Given the description of an element on the screen output the (x, y) to click on. 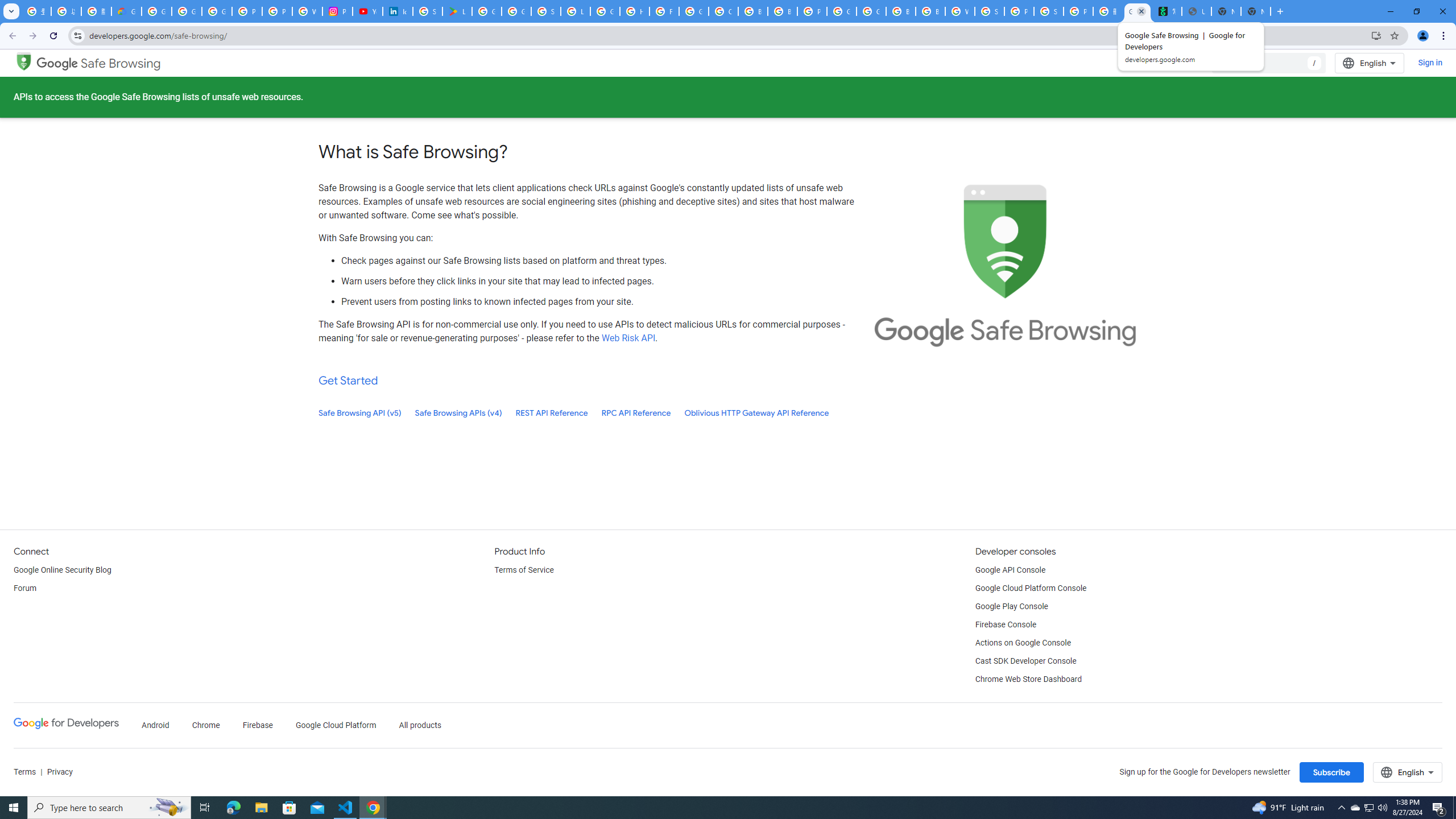
Safe Browsing APIs (v4) (458, 412)
Last Shelter: Survival - Apps on Google Play (456, 11)
New Tab (1255, 11)
Firebase (257, 725)
Google Developers (66, 725)
Google Cloud Platform (871, 11)
Google (57, 63)
Google Developers (66, 723)
Get Started (348, 380)
Cast SDK Developer Console (1025, 661)
All products (420, 725)
